Given the description of an element on the screen output the (x, y) to click on. 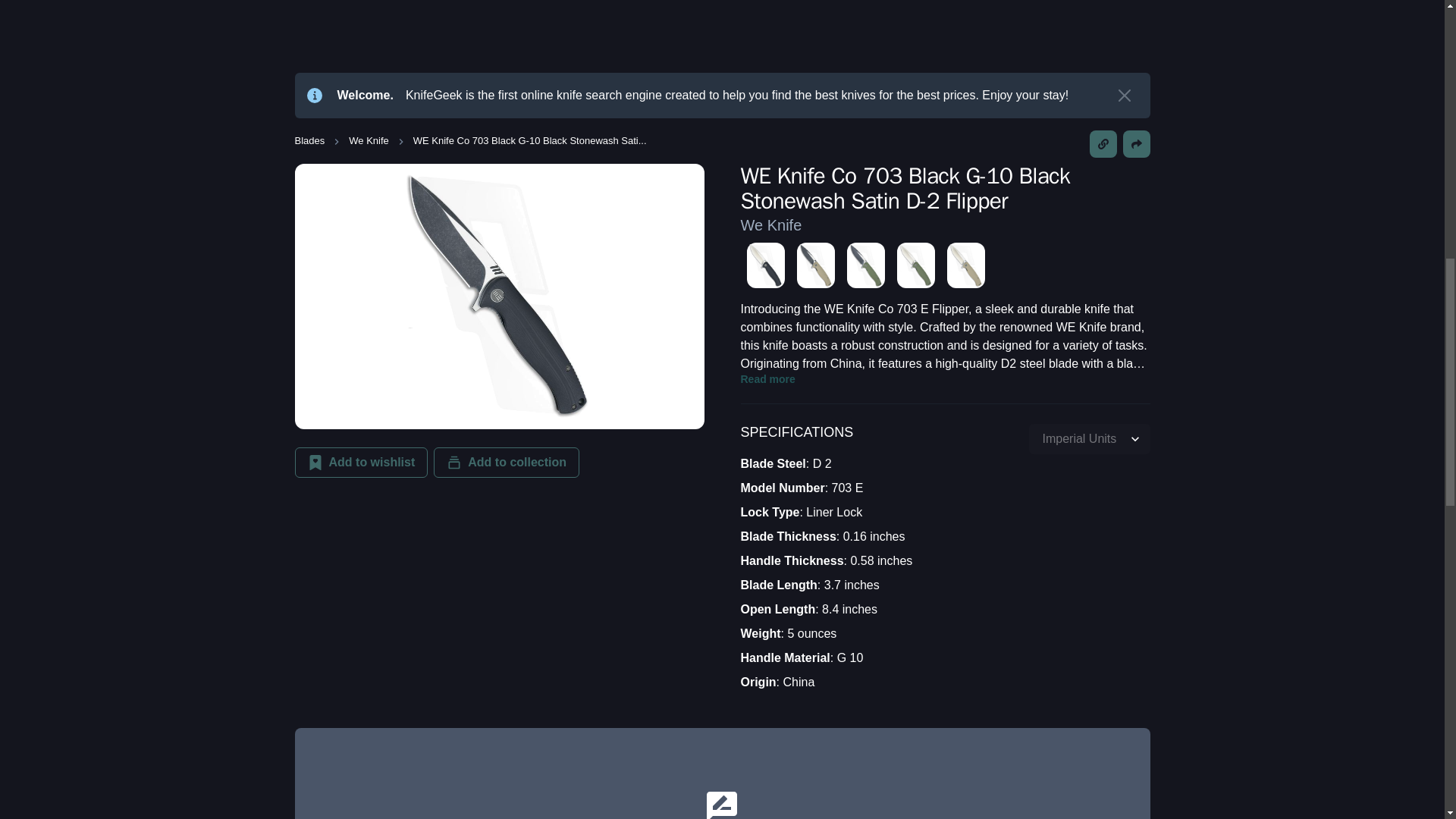
Add to collection (506, 462)
Add to wishlist (361, 462)
We Knife (368, 140)
Blades (309, 140)
WE Knife Co 703 Black G-10 Black Stonewash Sati... (529, 140)
We Knife (770, 225)
